Given the description of an element on the screen output the (x, y) to click on. 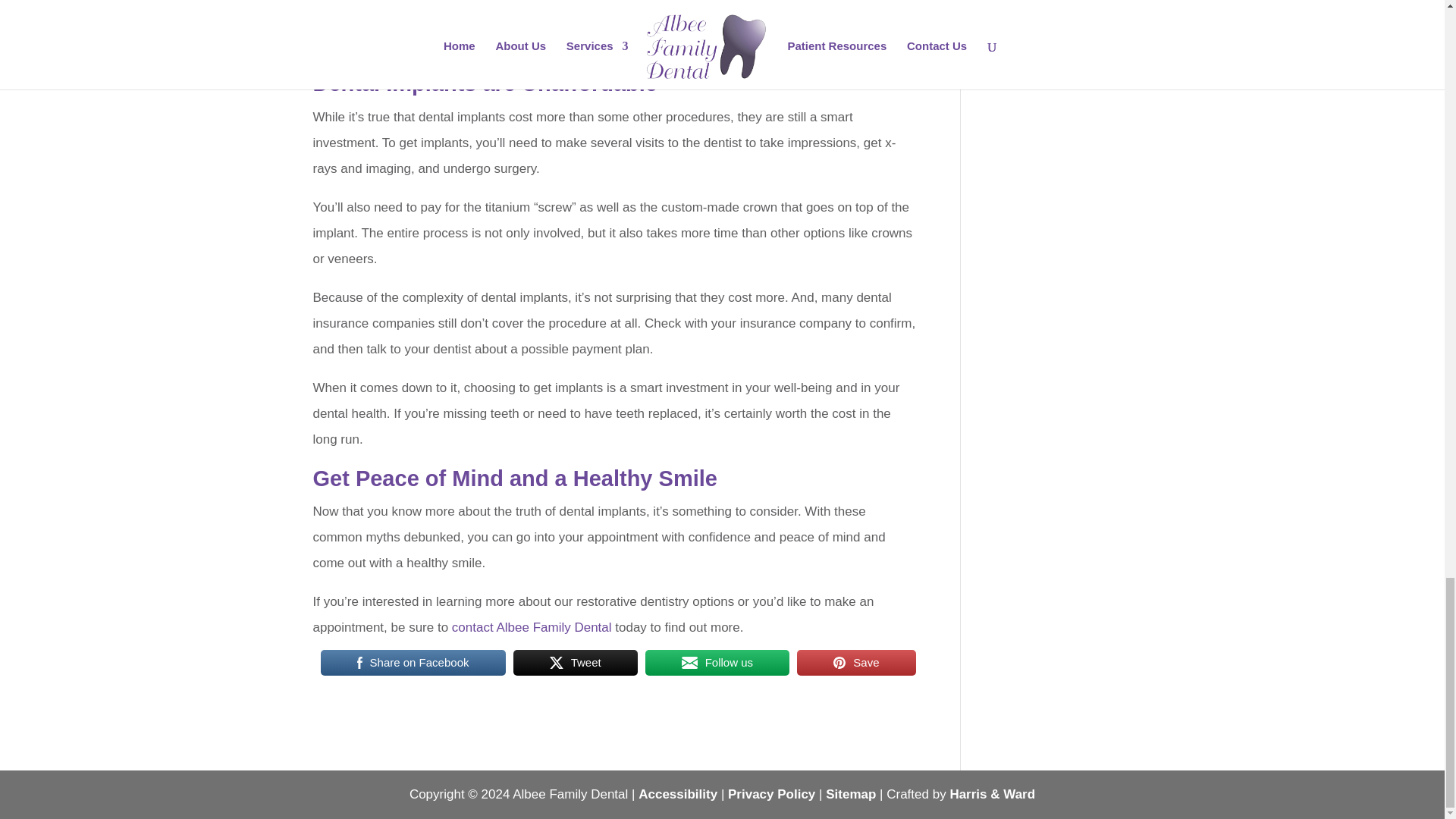
Share on Facebook (412, 662)
Accessibility (678, 794)
contact Albee Family Dental (531, 626)
very first titanium (387, 18)
Tweet (575, 662)
Follow us (717, 662)
Save (855, 662)
